Given the description of an element on the screen output the (x, y) to click on. 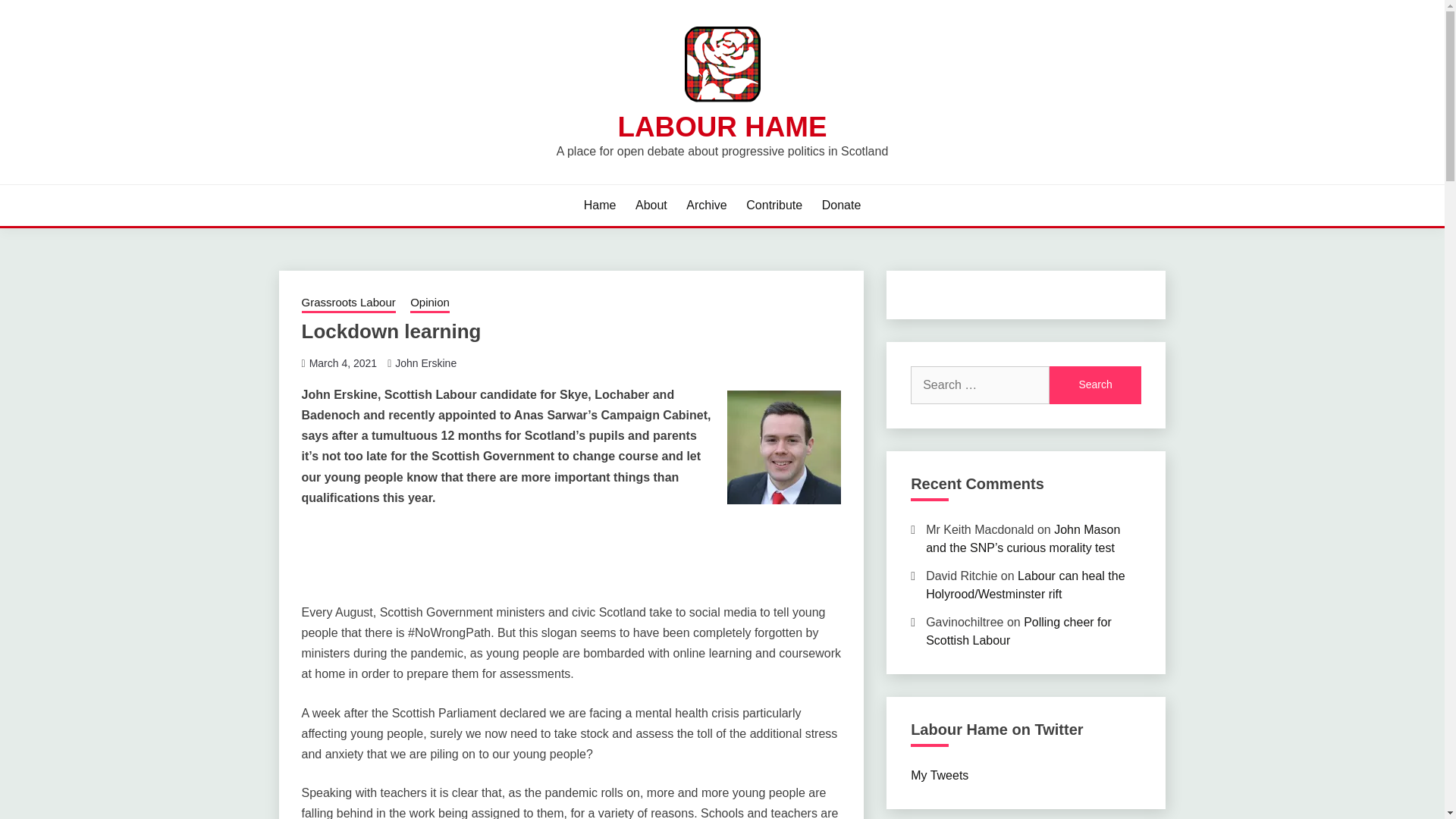
Archive (705, 205)
Contribute (773, 205)
Search (1095, 385)
Hame (599, 205)
John Erskine (425, 363)
March 4, 2021 (342, 363)
Donate (841, 205)
Grassroots Labour (348, 303)
About (650, 205)
LABOUR HAME (722, 126)
